Given the description of an element on the screen output the (x, y) to click on. 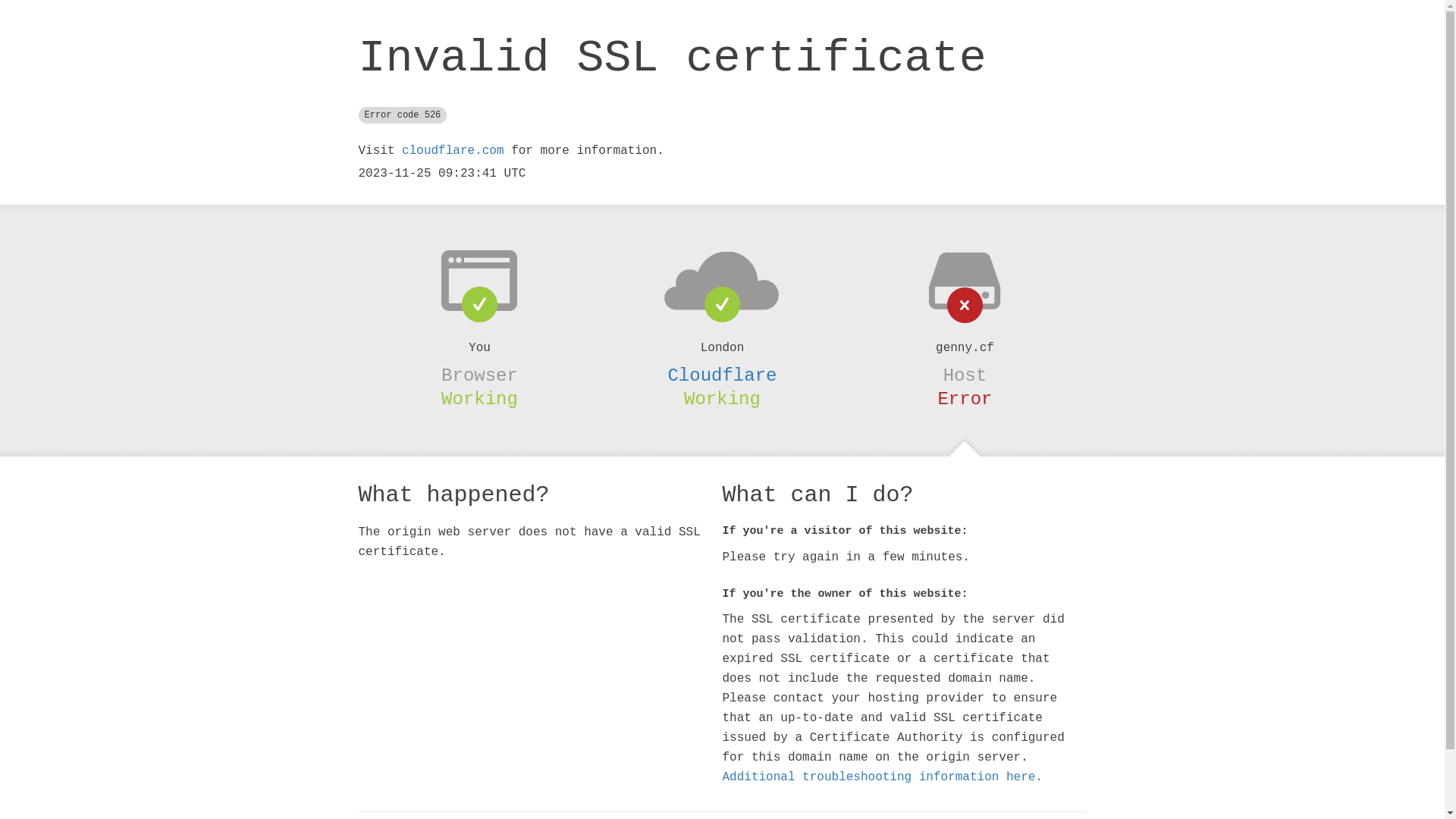
Cloudflare Element type: text (721, 375)
cloudflare.com Element type: text (452, 150)
Additional troubleshooting information here. Element type: text (881, 777)
